Given the description of an element on the screen output the (x, y) to click on. 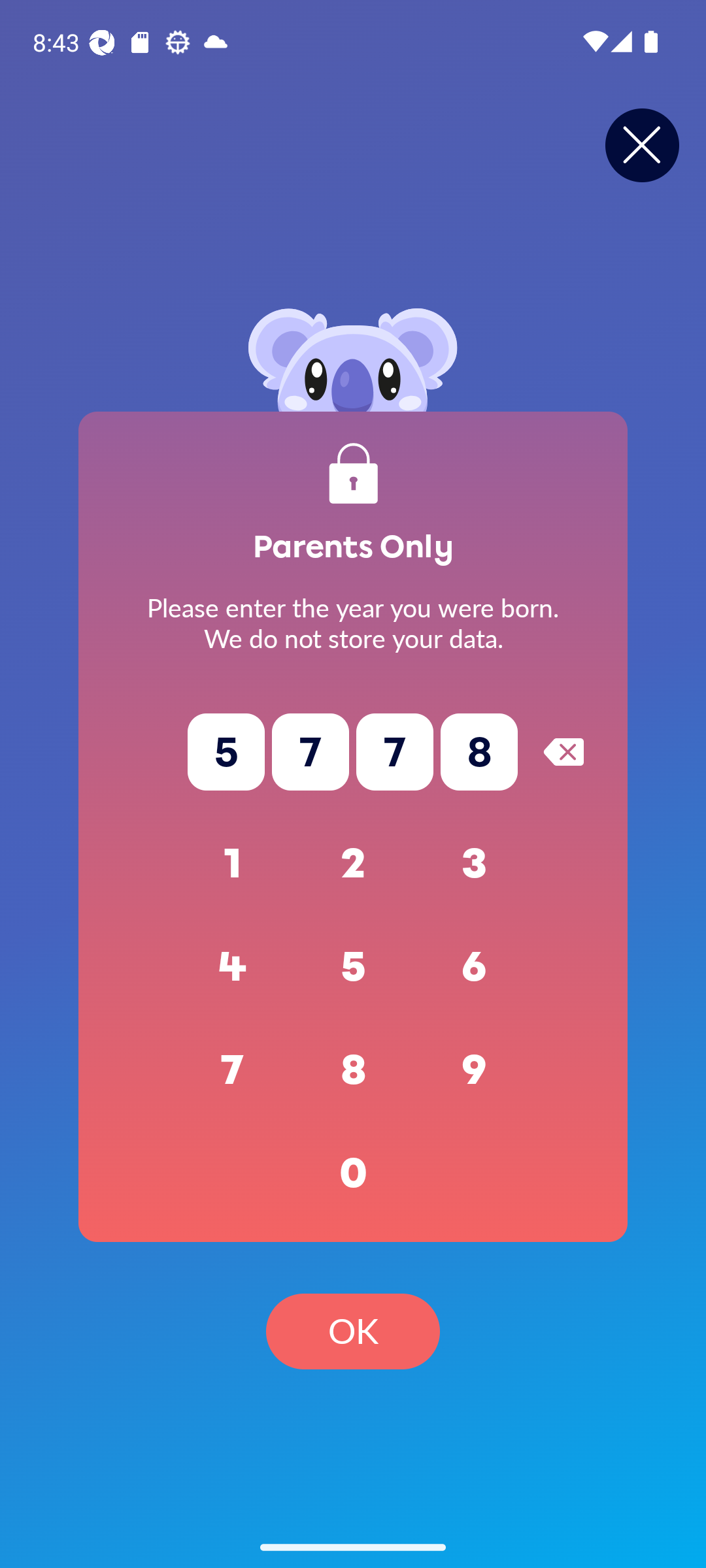
Delete (563, 751)
1 (232, 863)
2 (353, 863)
3 (474, 863)
4 (232, 966)
5 (353, 966)
6 (474, 966)
7 (232, 1069)
8 (353, 1069)
9 (474, 1069)
0 (353, 1173)
OK (352, 1331)
